Given the description of an element on the screen output the (x, y) to click on. 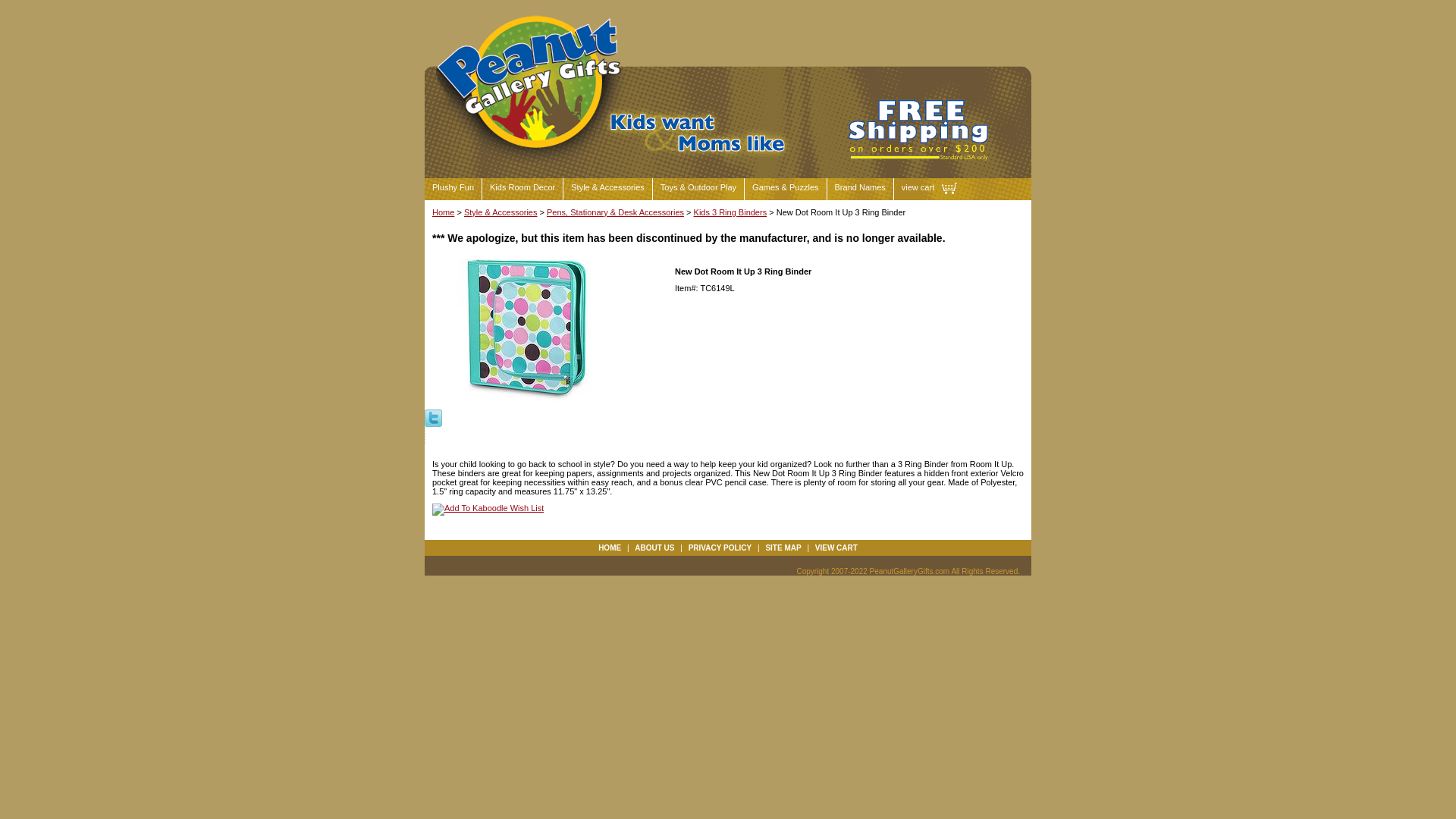
Plushy Fun (453, 188)
view cart (924, 188)
Kids Room Decor (522, 188)
PRIVACY POLICY (719, 547)
Tweet (433, 416)
PeanutGalleryGifts.com (531, 153)
Plushy Fun (453, 188)
Kids 3 Ring Binders (730, 212)
VIEW CART (835, 547)
SITE MAP (783, 547)
